Given the description of an element on the screen output the (x, y) to click on. 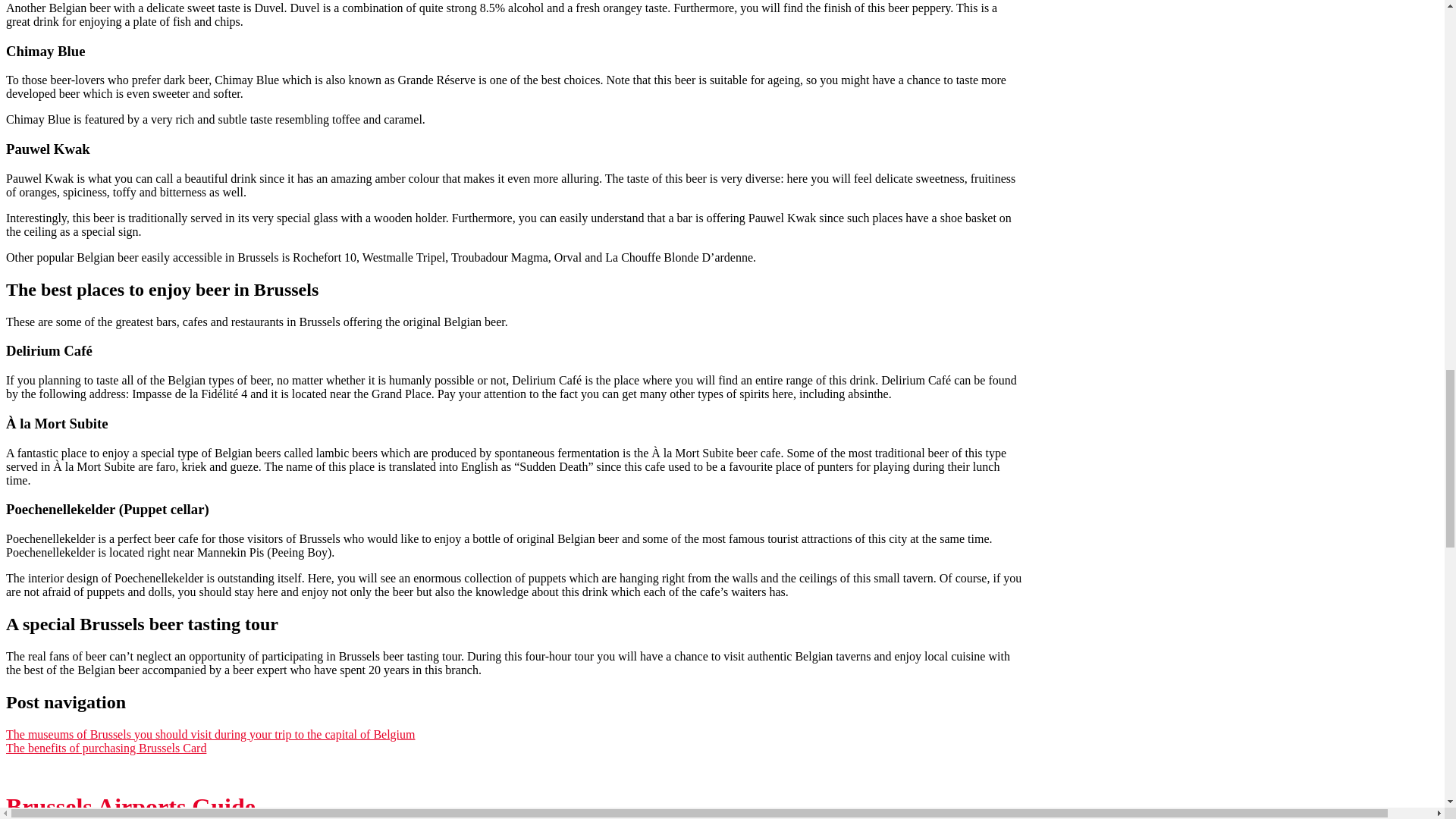
Brussels Airports Guide (130, 806)
The benefits of purchasing Brussels Card (105, 748)
